Given the description of an element on the screen output the (x, y) to click on. 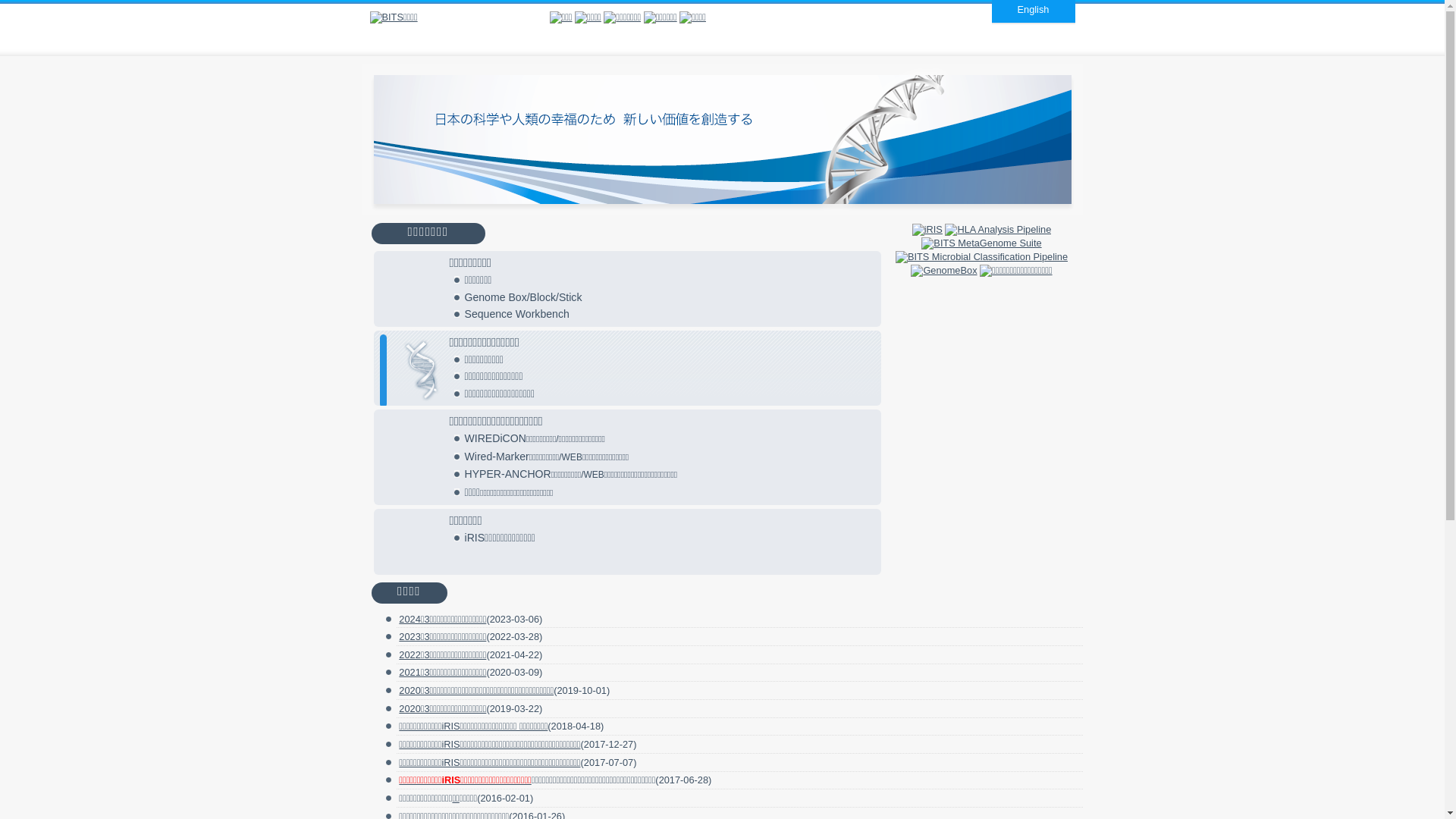
English Element type: text (1033, 9)
WIREDiCON Element type: text (494, 438)
Sequence Workbench Element type: text (516, 313)
Genome Box/Block/Stick Element type: text (522, 297)
Wired-Marker Element type: text (496, 456)
HYPER-ANCHOR Element type: text (507, 473)
